Given the description of an element on the screen output the (x, y) to click on. 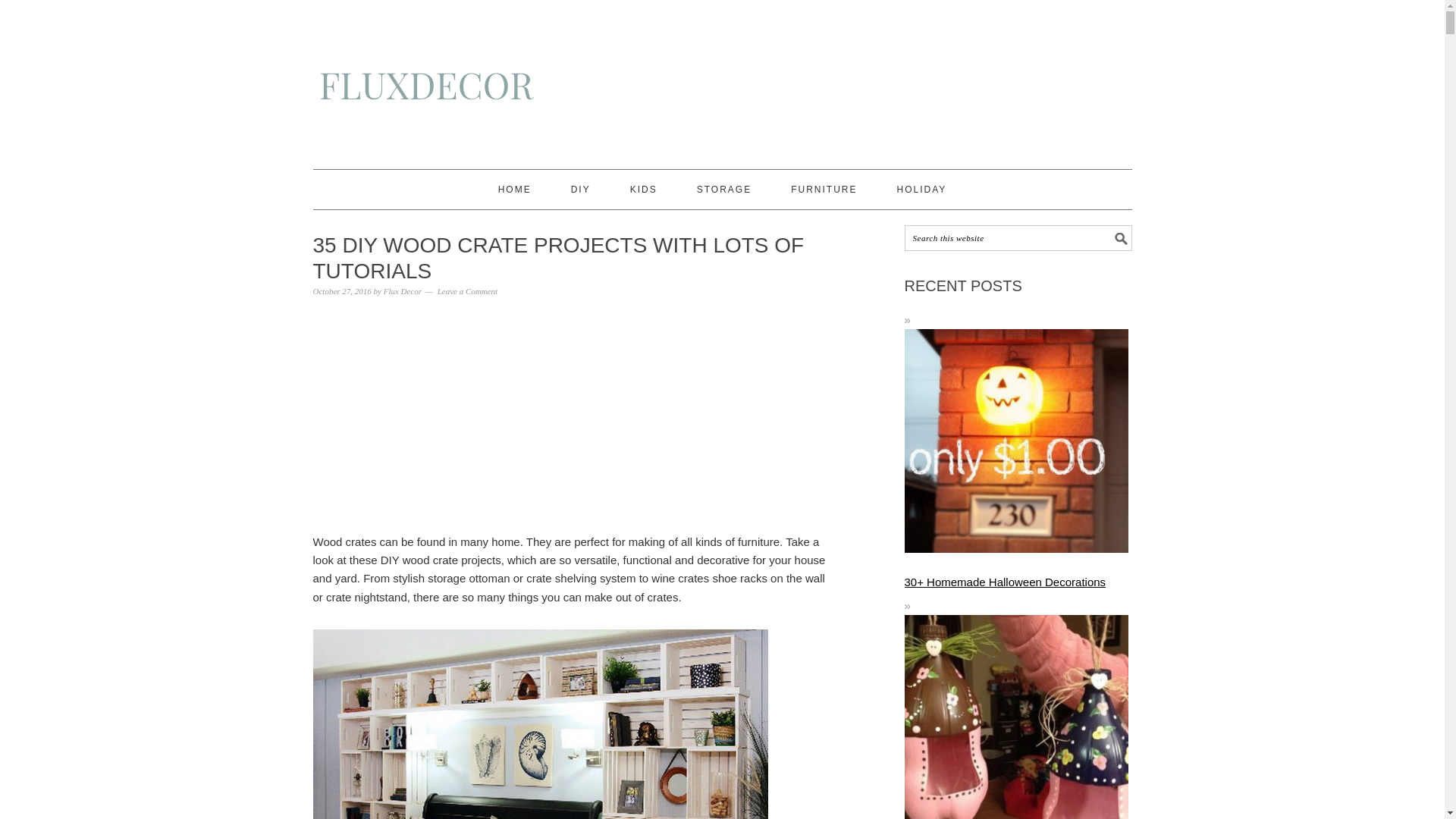
KIDS (644, 189)
HOME (514, 189)
STORAGE (724, 189)
FURNITURE (823, 189)
DIY (580, 189)
FLUX DECOR (722, 91)
Advertisement (569, 417)
Flux Decor (403, 290)
HOLIDAY (921, 189)
Leave a Comment (467, 290)
